Given the description of an element on the screen output the (x, y) to click on. 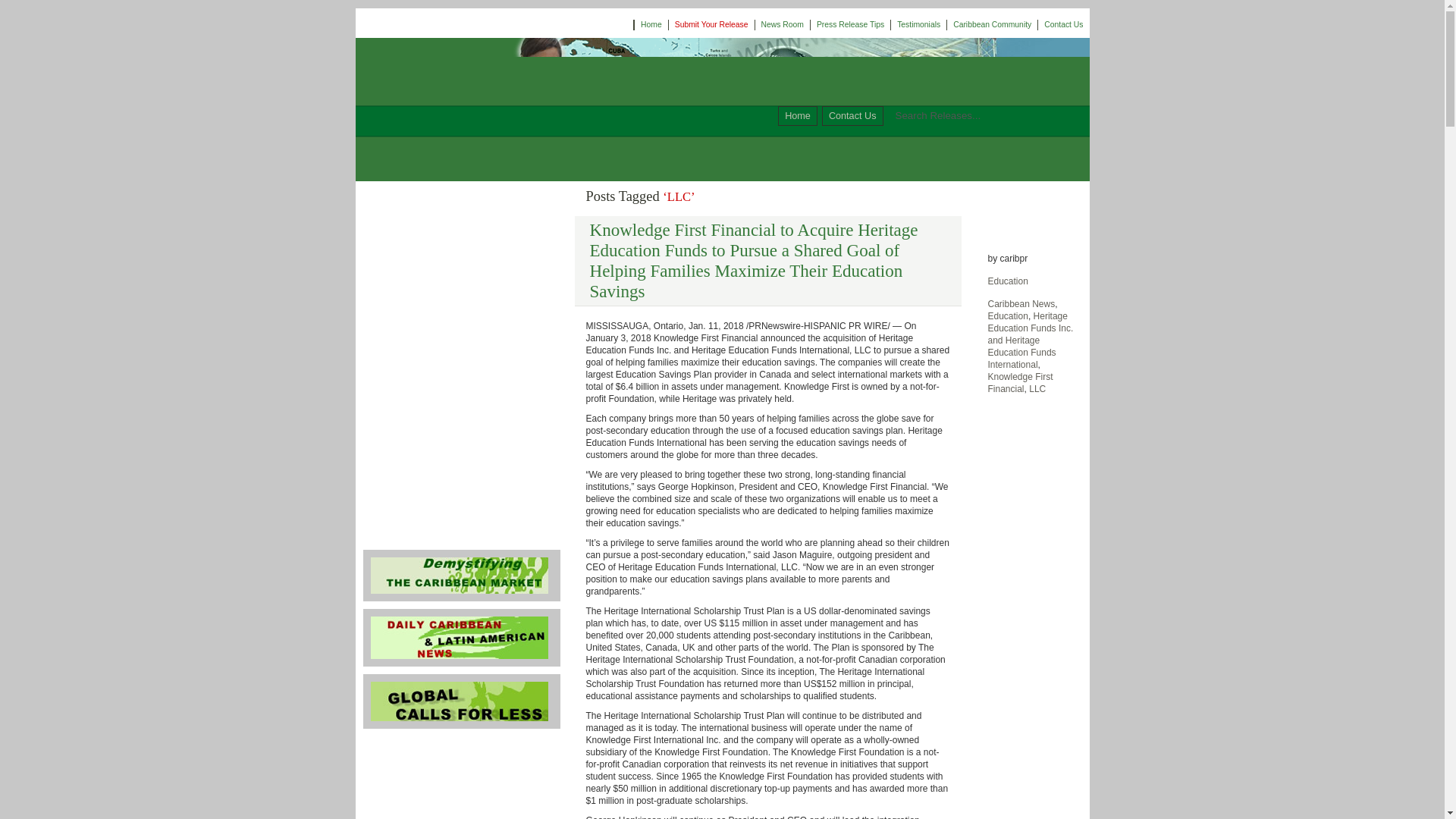
Submit Your Release (711, 24)
CaribPR Wire (449, 93)
Education (1007, 316)
Testimonials (461, 362)
Testimonials (461, 362)
Caribbean Community (461, 467)
Contact Us (852, 116)
Caribbean Community (461, 467)
Caribbean Community (991, 24)
Submit Your Release (461, 232)
Education (1007, 281)
Search Releases... (970, 115)
Distribution (461, 265)
